Given the description of an element on the screen output the (x, y) to click on. 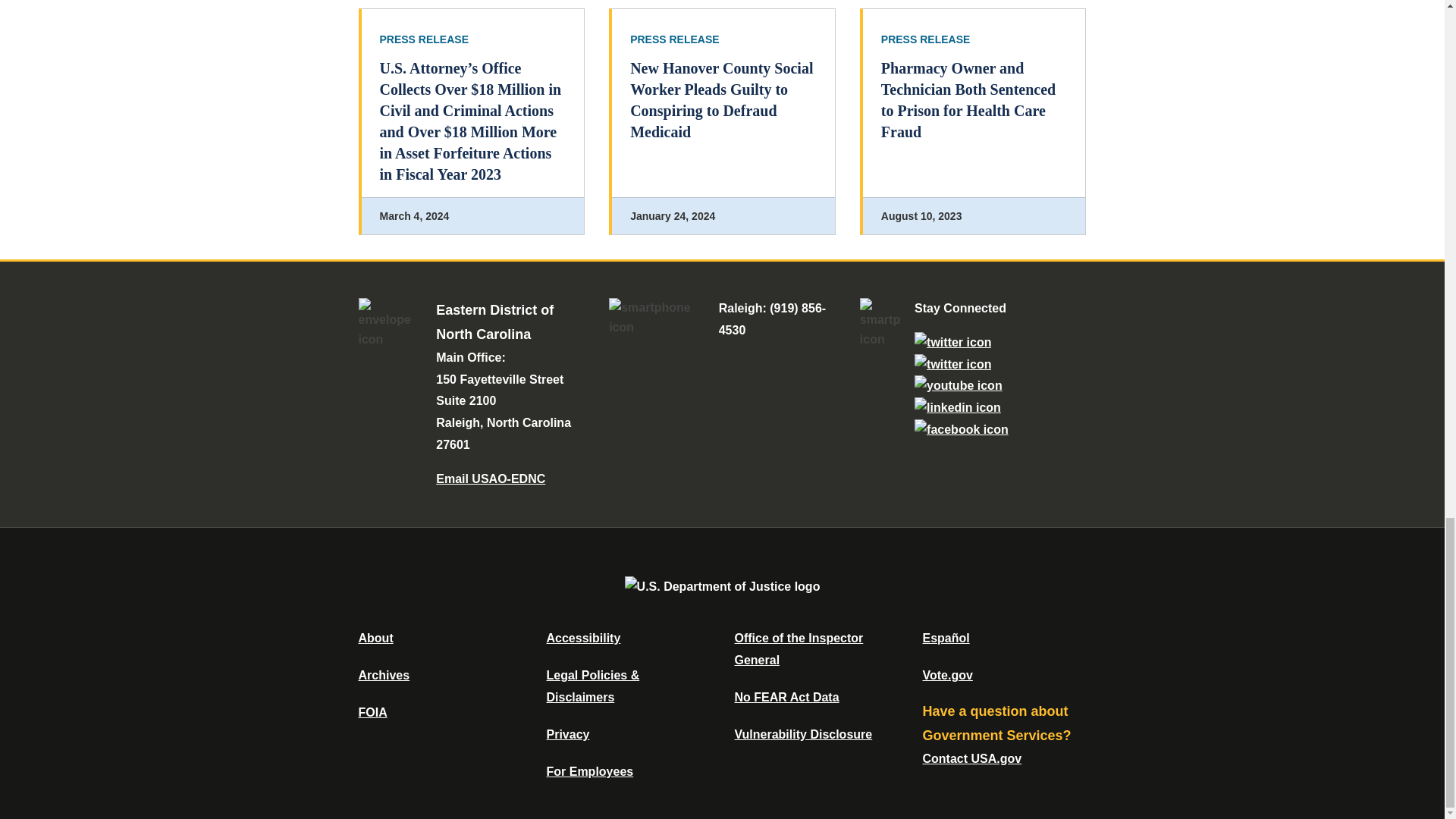
Data Posted Pursuant To The No Fear Act (785, 697)
Accessibility Statement (583, 637)
About DOJ (375, 637)
For Employees (589, 771)
Legal Policies and Disclaimers (592, 686)
Office of Information Policy (372, 712)
Department of Justice Archive (383, 675)
